Given the description of an element on the screen output the (x, y) to click on. 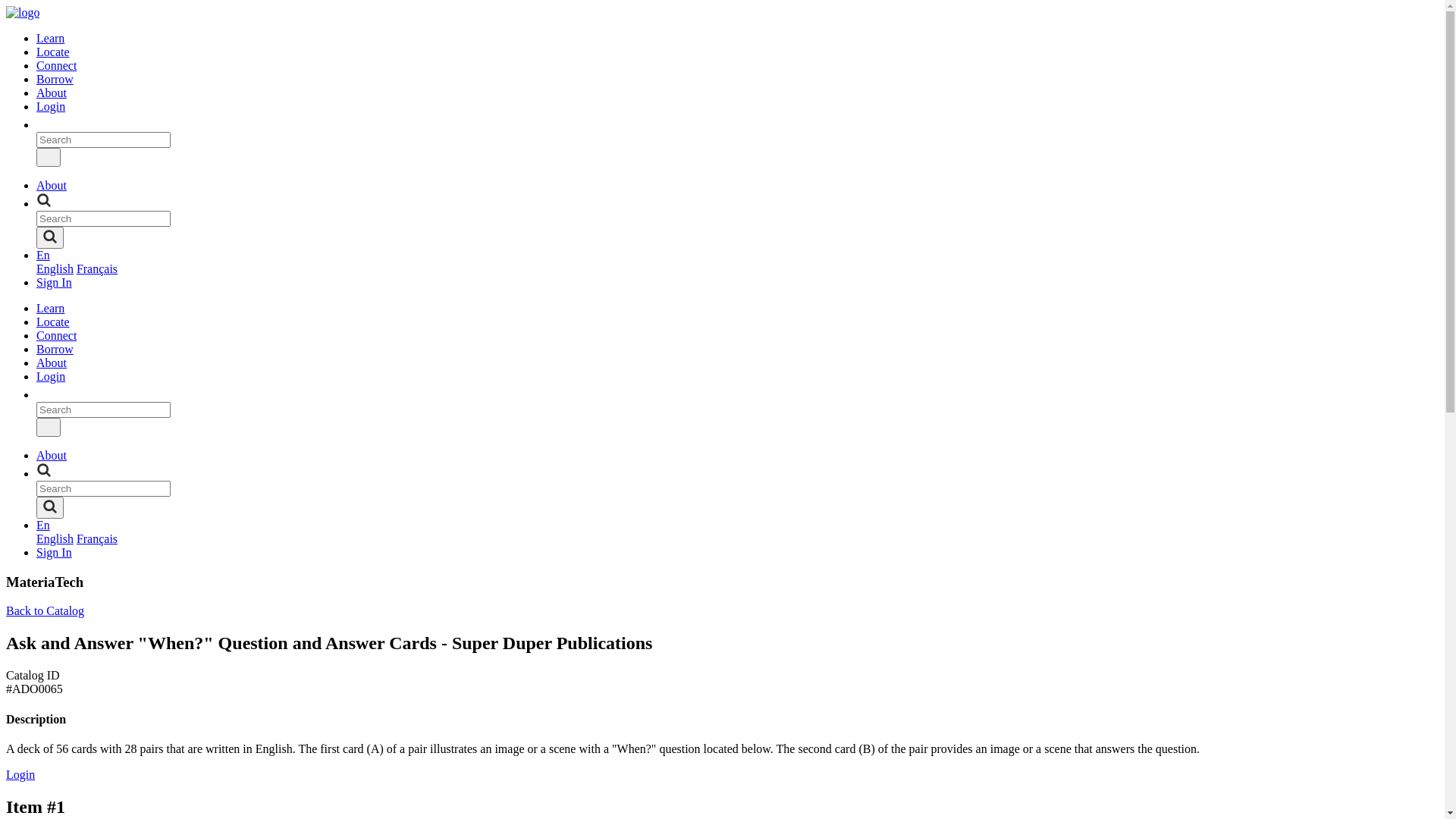
En Element type: text (43, 524)
Login Element type: text (20, 774)
Back to Catalog Element type: text (45, 610)
About Element type: text (51, 454)
Sign In Element type: text (54, 282)
Connect Element type: text (56, 335)
About Element type: text (51, 92)
About Element type: text (51, 184)
English Element type: text (54, 268)
English Element type: text (54, 538)
Locate Element type: text (52, 51)
Connect Element type: text (56, 65)
Learn Element type: text (50, 37)
About Element type: text (51, 362)
Locate Element type: text (52, 321)
Login Element type: text (50, 376)
Learn Element type: text (50, 307)
Sign In Element type: text (54, 552)
Borrow Element type: text (54, 78)
Login Element type: text (50, 106)
Borrow Element type: text (54, 348)
En Element type: text (43, 254)
